Given the description of an element on the screen output the (x, y) to click on. 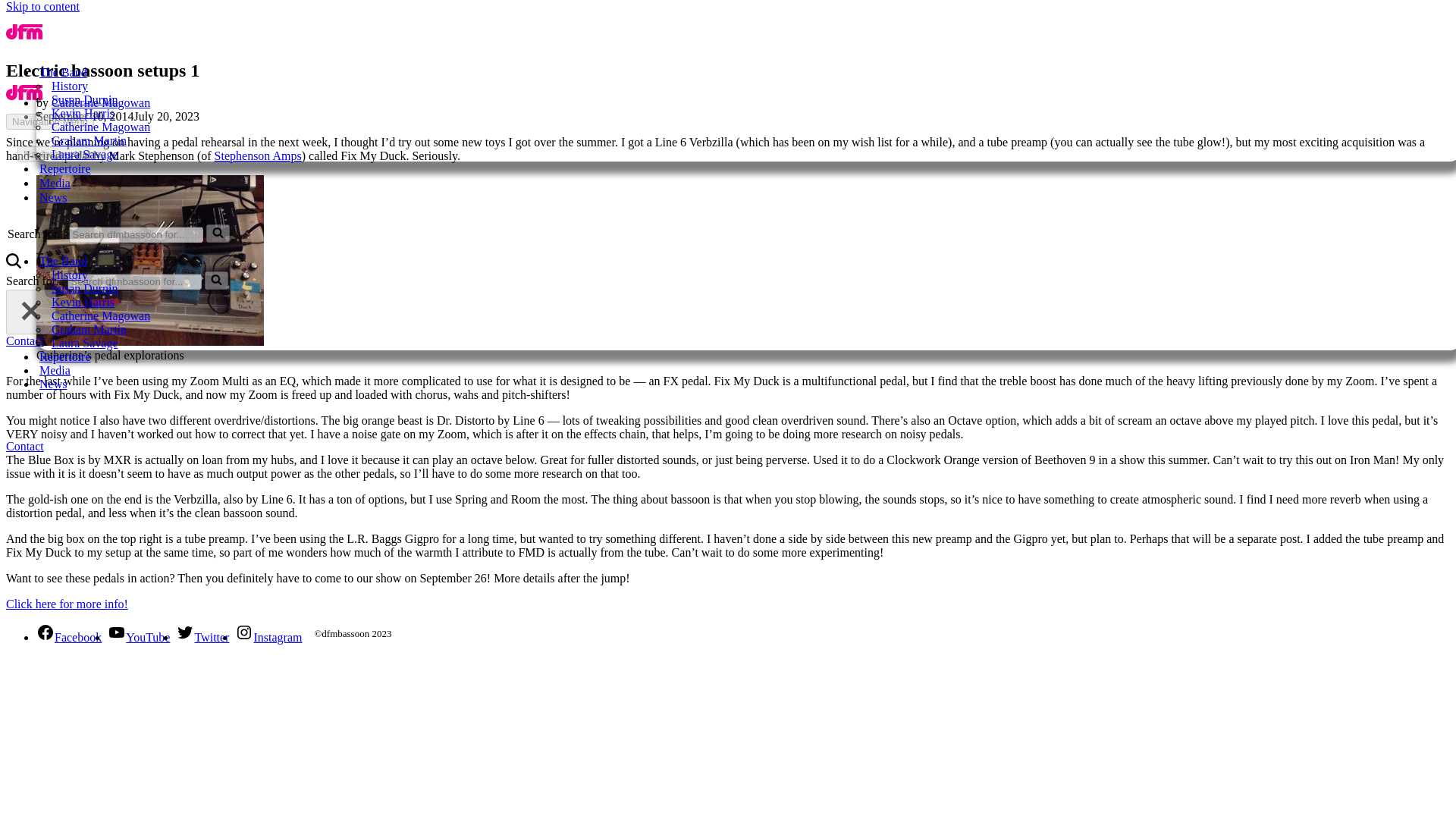
The Band (63, 72)
Catherine Magowan (99, 102)
Contact (24, 340)
Laura Savage (83, 154)
Graham Martin (88, 141)
Repertoire (64, 168)
News (52, 197)
Contact (24, 445)
Skip to content (42, 6)
History (68, 86)
